Given the description of an element on the screen output the (x, y) to click on. 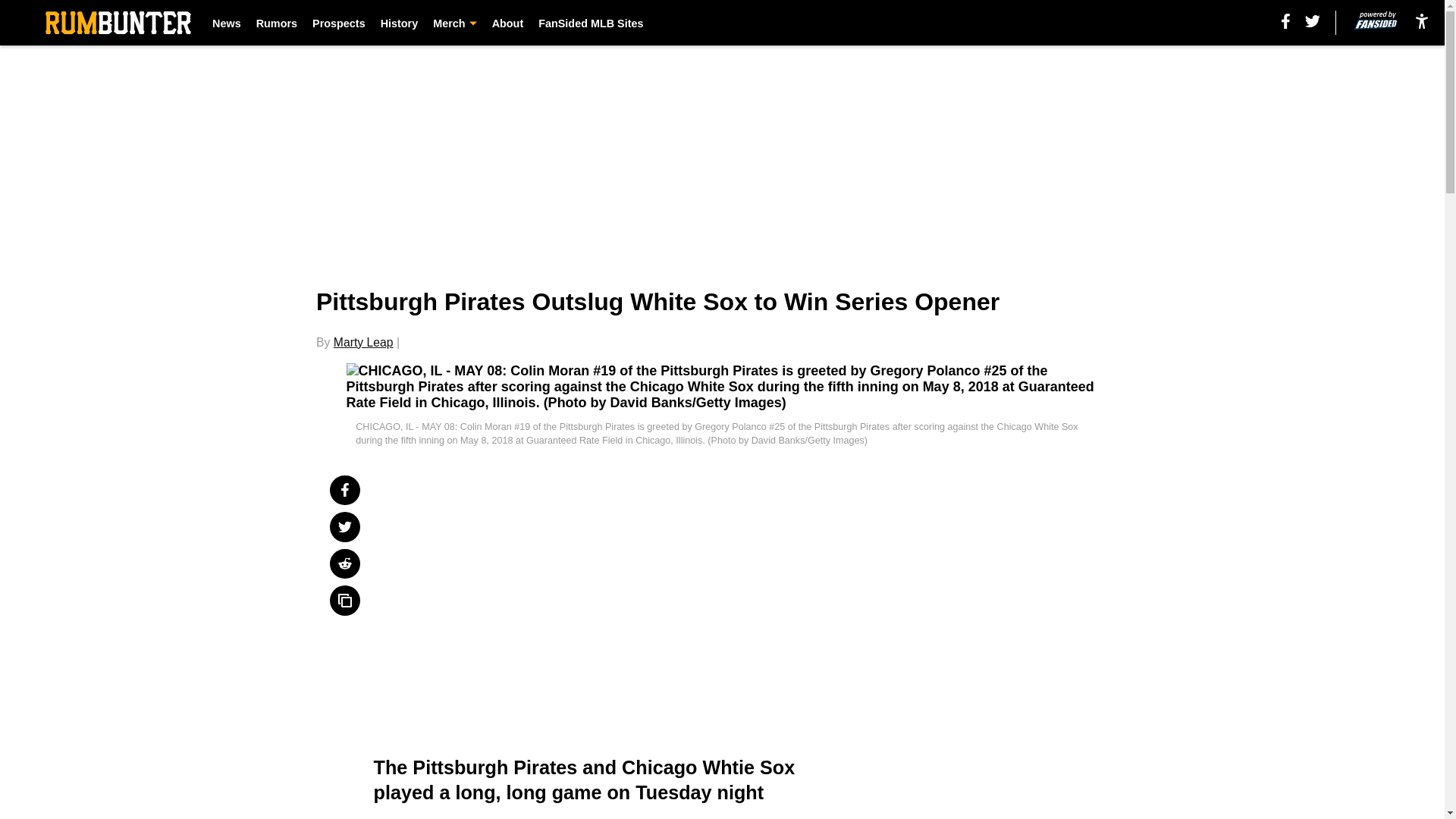
News (226, 23)
Prospects (339, 23)
Marty Leap (363, 341)
FanSided MLB Sites (590, 23)
History (399, 23)
About (508, 23)
Rumors (276, 23)
